Given the description of an element on the screen output the (x, y) to click on. 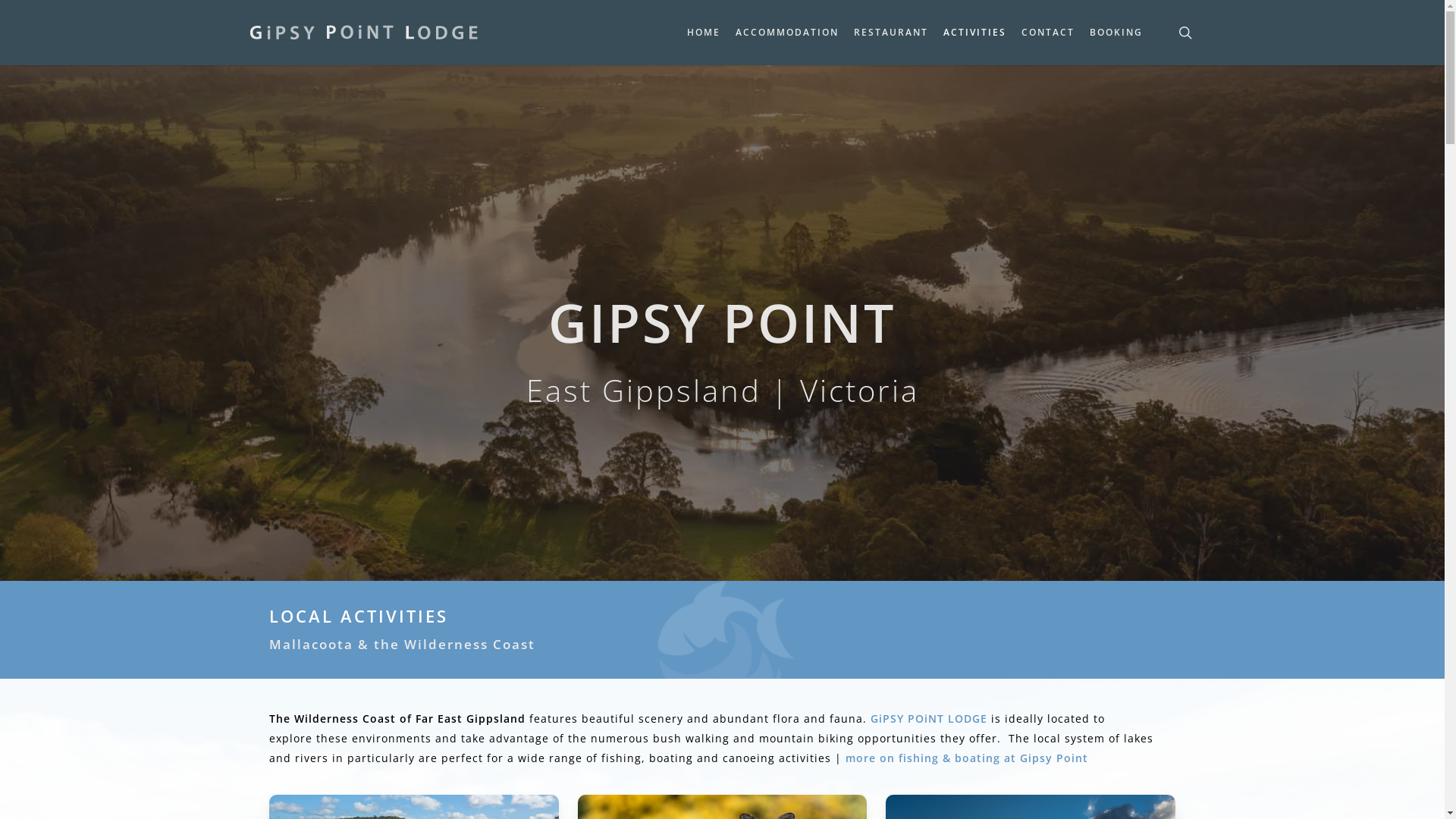
more on fishing & boating at Gipsy Point Element type: text (966, 757)
RESTAURANT Element type: text (890, 32)
HOME Element type: text (703, 32)
BOOKING Element type: text (1116, 32)
GiPSY POiNT LODGE Element type: text (928, 718)
CONTACT Element type: text (1047, 32)
ACTIVITIES Element type: text (974, 32)
search Element type: text (1185, 32)
ACCOMMODATION Element type: text (787, 32)
